Given the description of an element on the screen output the (x, y) to click on. 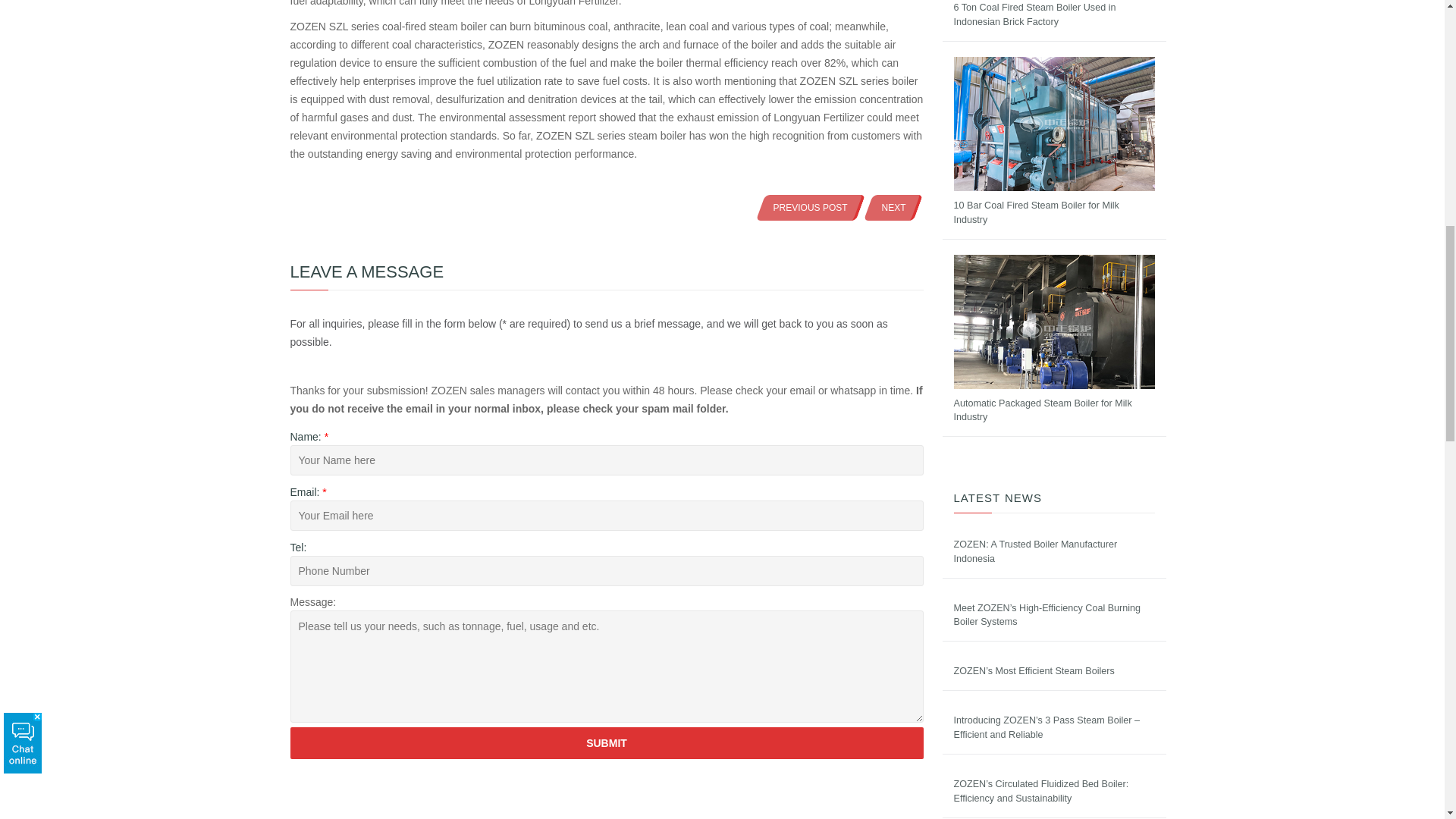
SUBMIT (606, 743)
Automatic Packaged Steam Boiler for Milk Industry (1042, 409)
10 Bar Coal Fired Steam Boiler for Milk Industry (1036, 212)
SUBMIT (606, 743)
Please enter your phone number (606, 571)
NEXT (892, 207)
PREVIOUS POST (810, 207)
Automatic Packaged Steam Boiler for Milk Industry (1042, 409)
ZOZEN: A Trusted Boiler Manufacturer Indonesia (1035, 551)
